Given the description of an element on the screen output the (x, y) to click on. 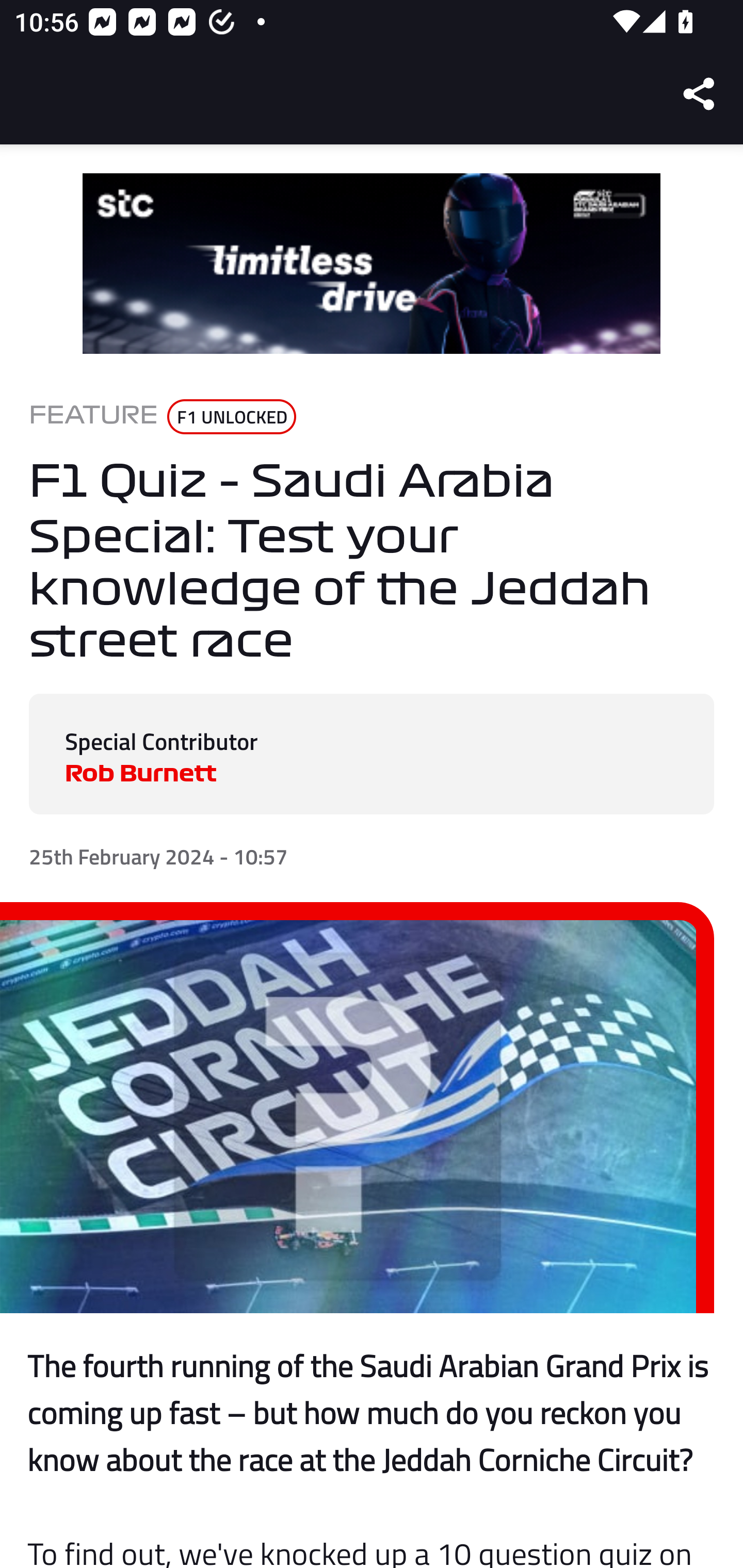
Share (699, 93)
who-we-are (371, 264)
